Given the description of an element on the screen output the (x, y) to click on. 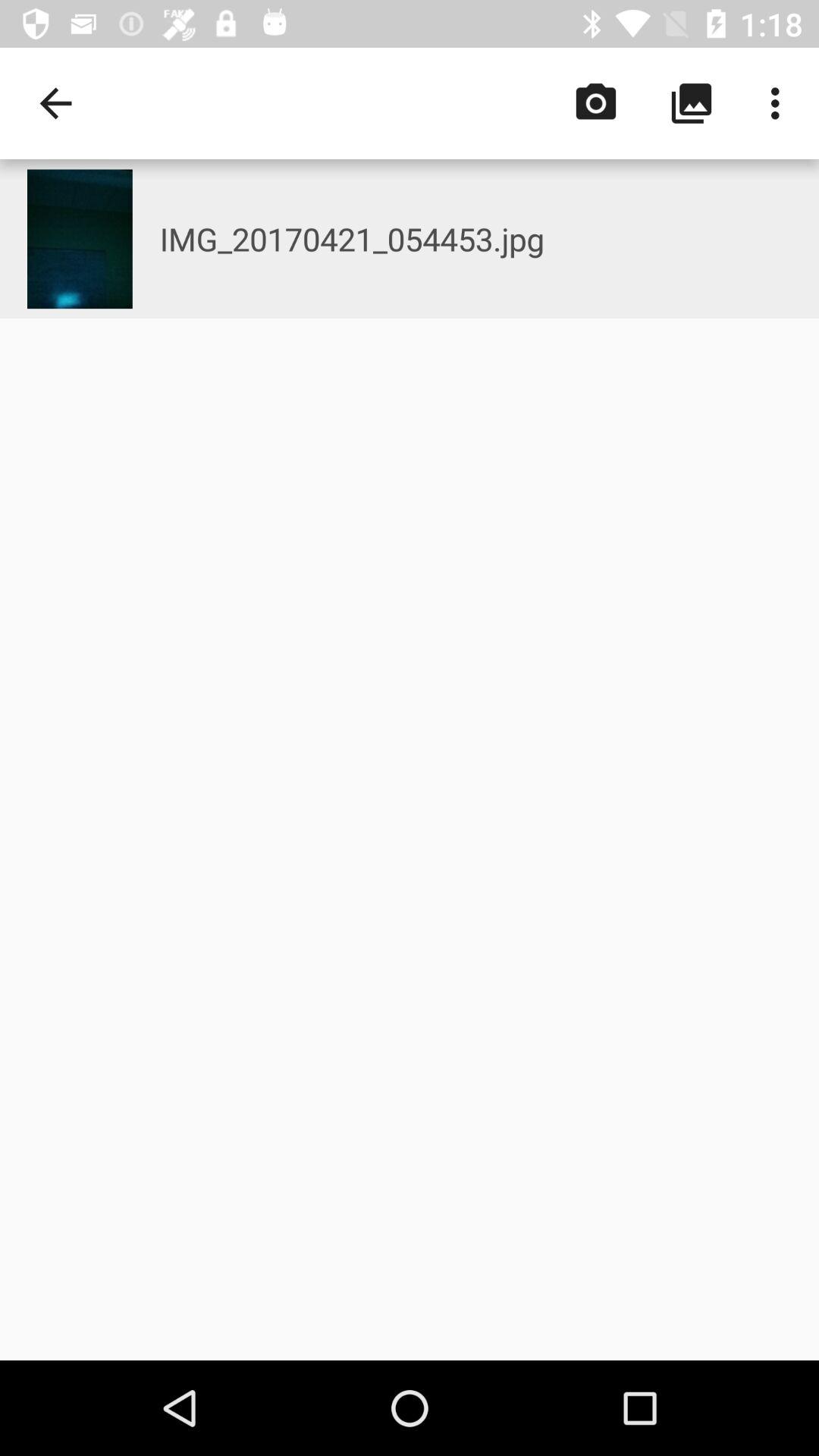
click the icon next to img_20170421_054453.jpg item (79, 238)
